Given the description of an element on the screen output the (x, y) to click on. 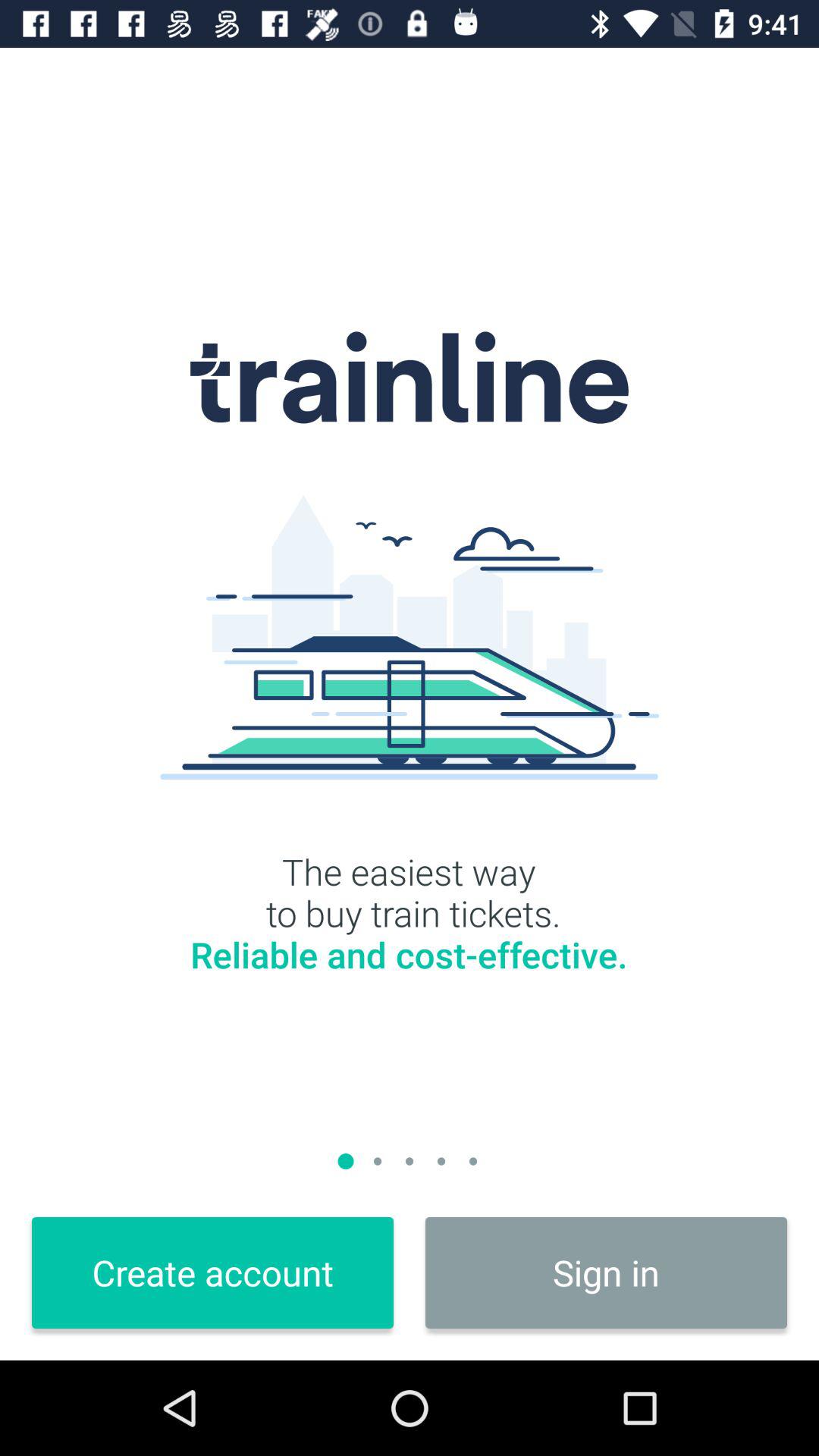
tap icon to the left of sign in icon (212, 1272)
